Given the description of an element on the screen output the (x, y) to click on. 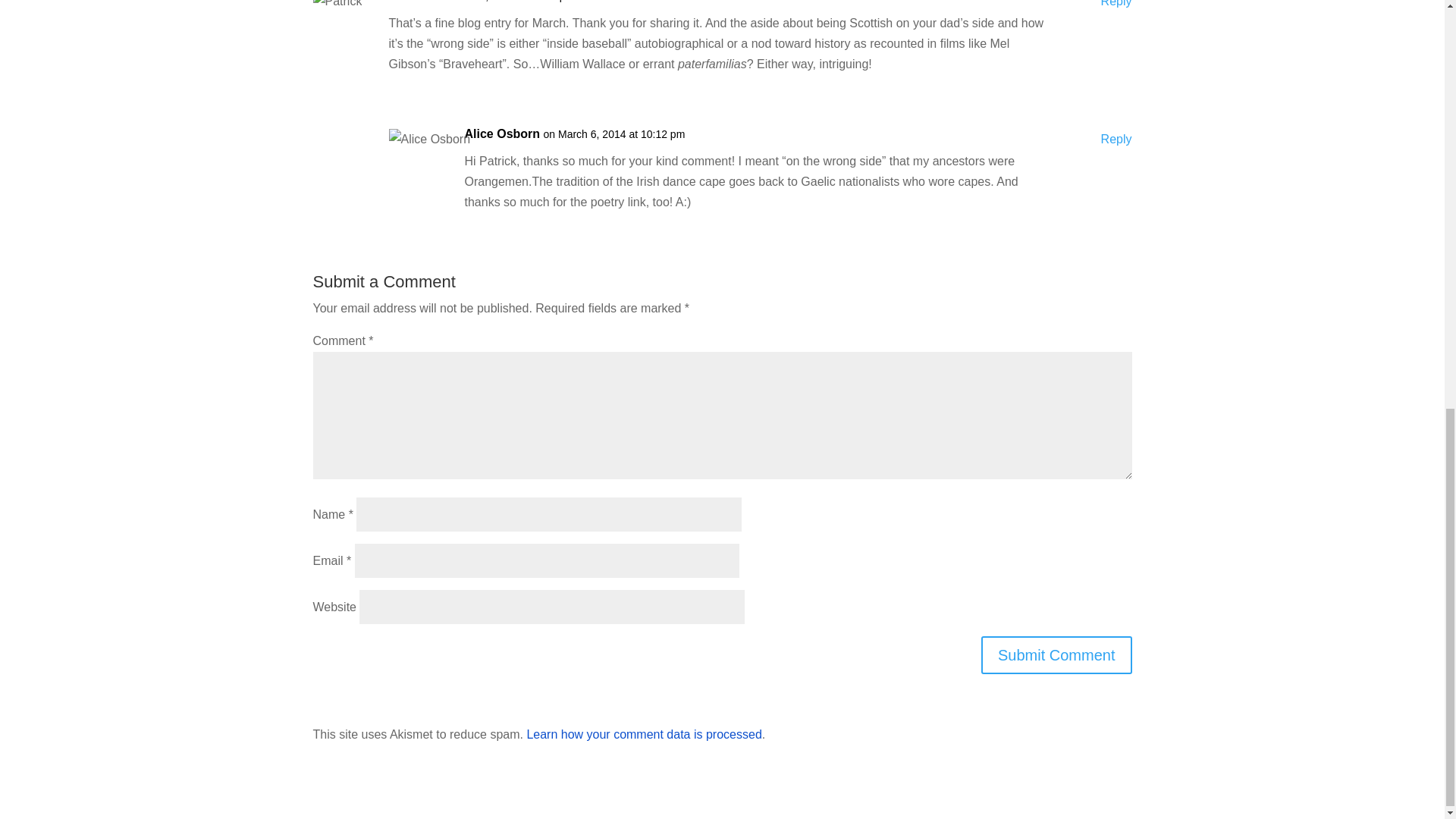
Submit Comment (1056, 655)
Reply (1116, 138)
Learn how your comment data is processed (643, 734)
Submit Comment (1056, 655)
Alice Osborn (502, 132)
Reply (1116, 5)
